Given the description of an element on the screen output the (x, y) to click on. 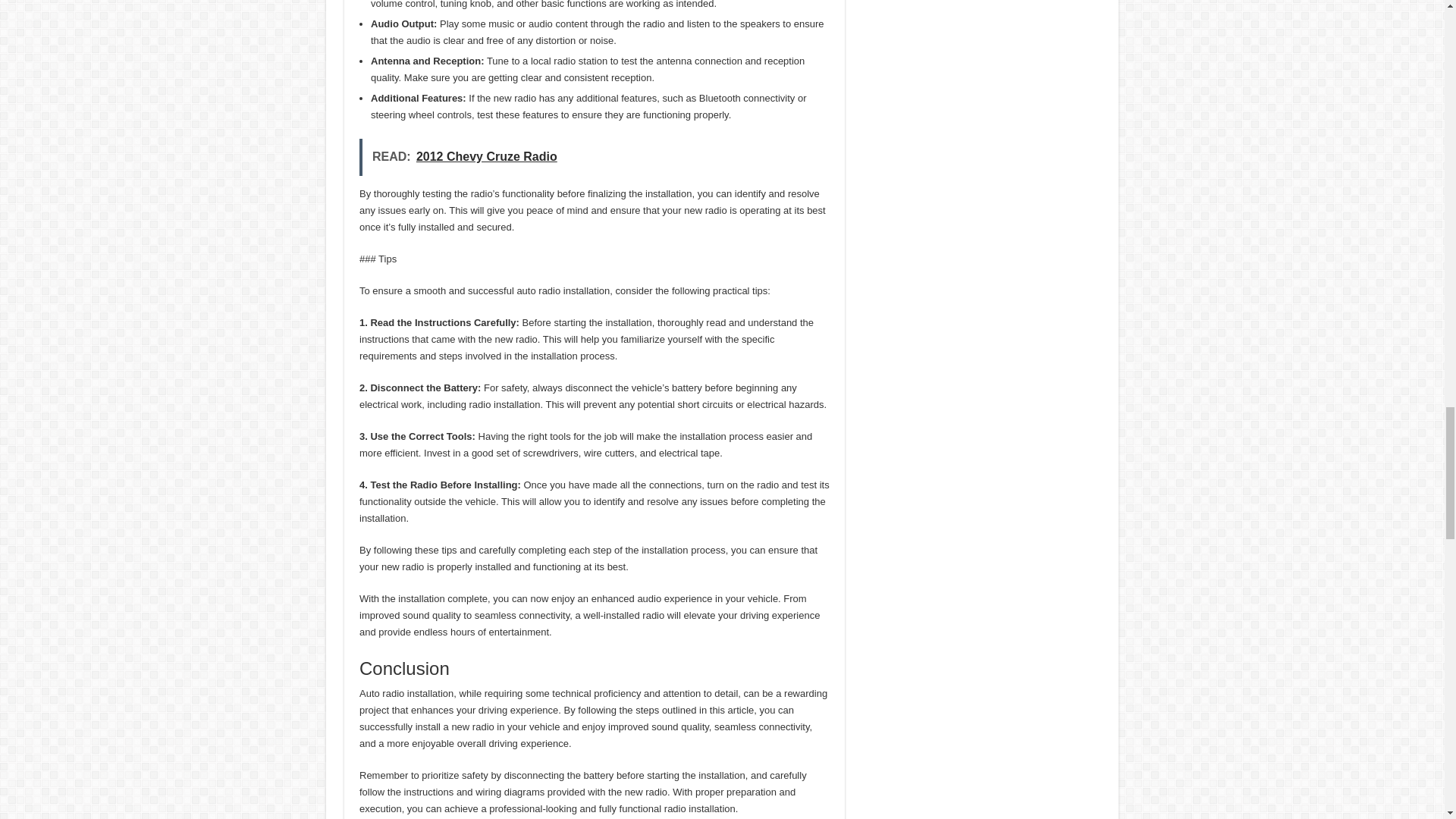
READ:  2012 Chevy Cruze Radio (594, 157)
